Given the description of an element on the screen output the (x, y) to click on. 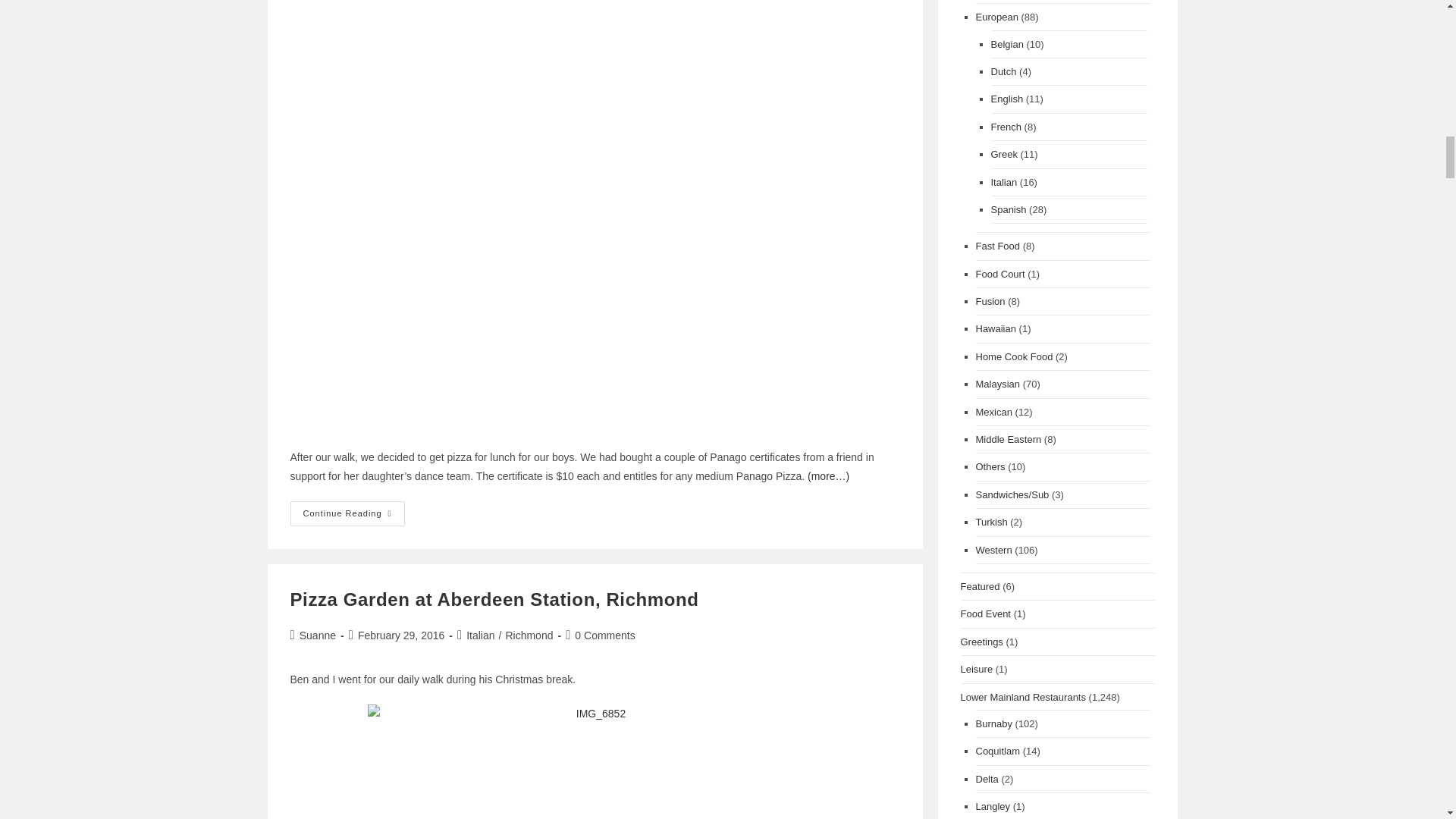
Suanne (317, 635)
0 Comments (604, 635)
Posts by Suanne (317, 635)
Italian (480, 635)
Richmond (529, 635)
Pizza Garden at Aberdeen Station, Richmond (493, 598)
